Given the description of an element on the screen output the (x, y) to click on. 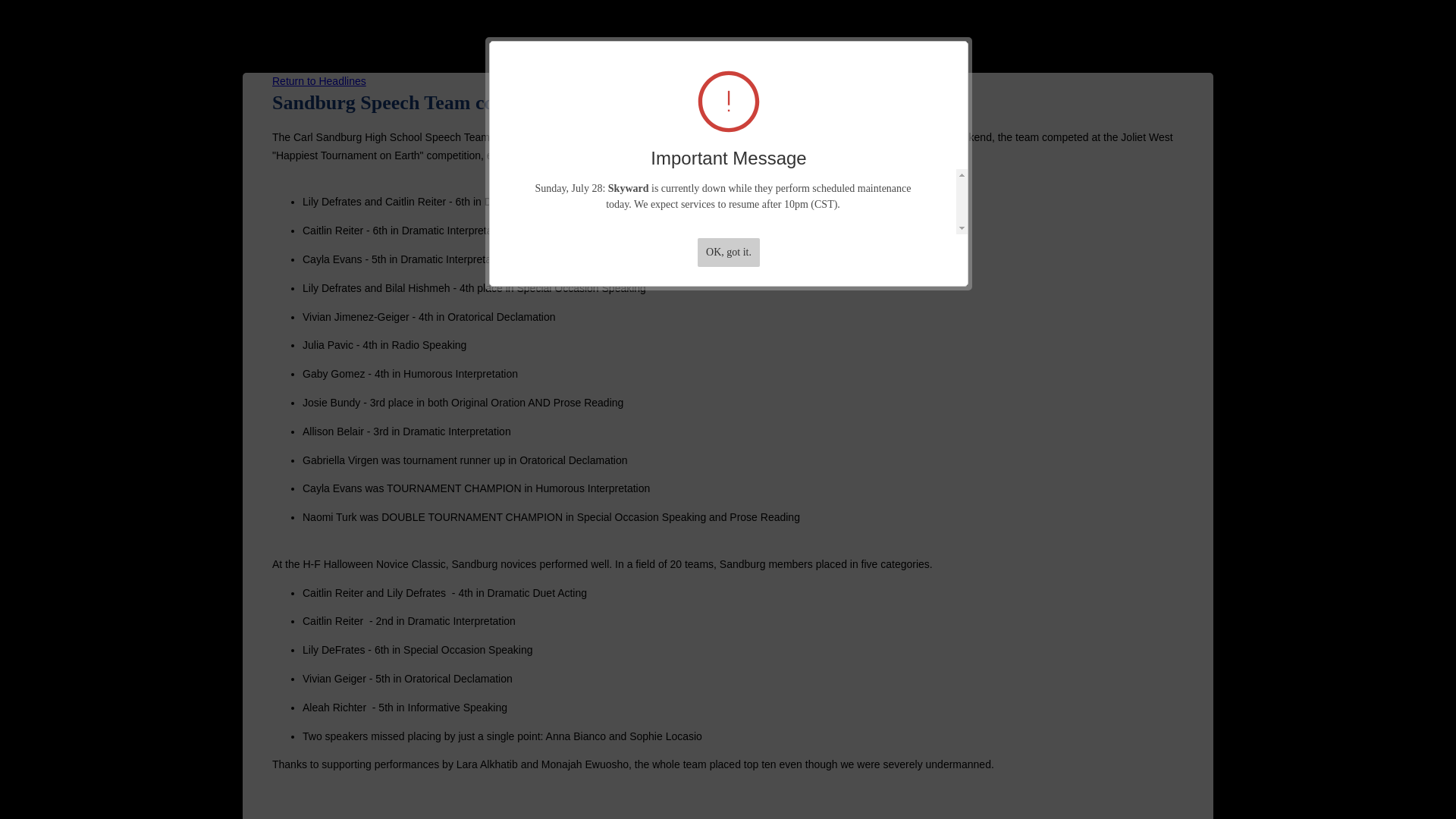
OK, got it. (728, 252)
